Given the description of an element on the screen output the (x, y) to click on. 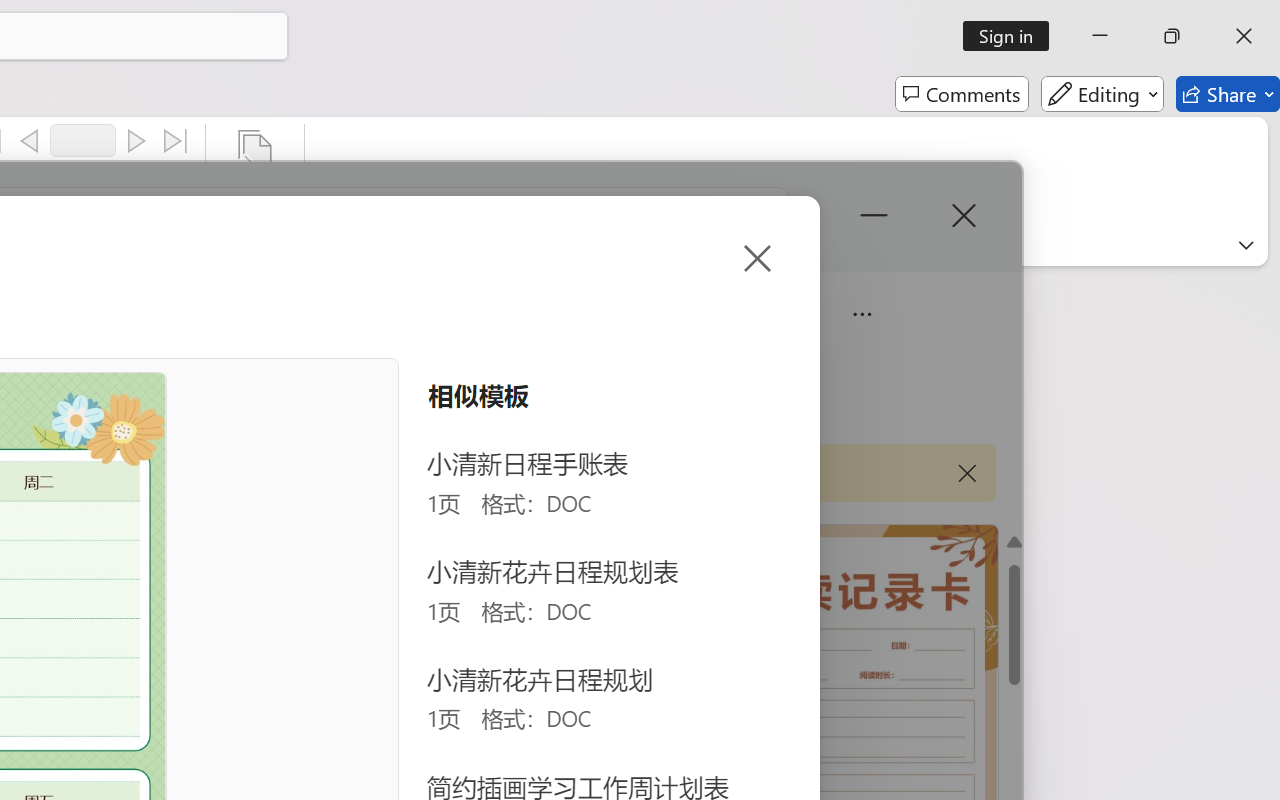
Finish & Merge (255, 179)
Previous (29, 141)
Editing (1101, 94)
Last (175, 141)
Next (136, 141)
Record (83, 140)
Sign in (1012, 35)
